Given the description of an element on the screen output the (x, y) to click on. 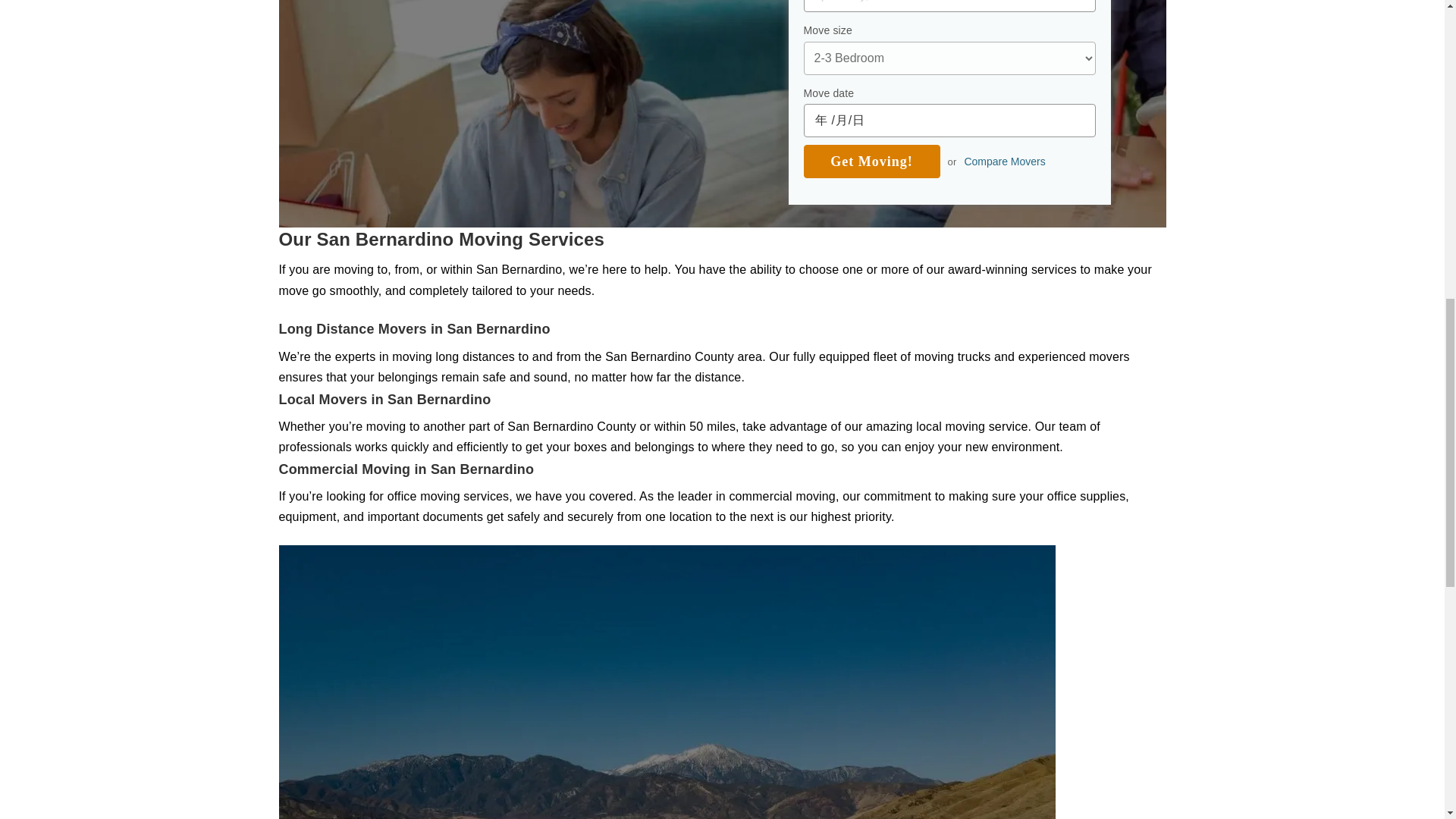
Compare Movers (1004, 161)
Get Moving! (871, 161)
